Given the description of an element on the screen output the (x, y) to click on. 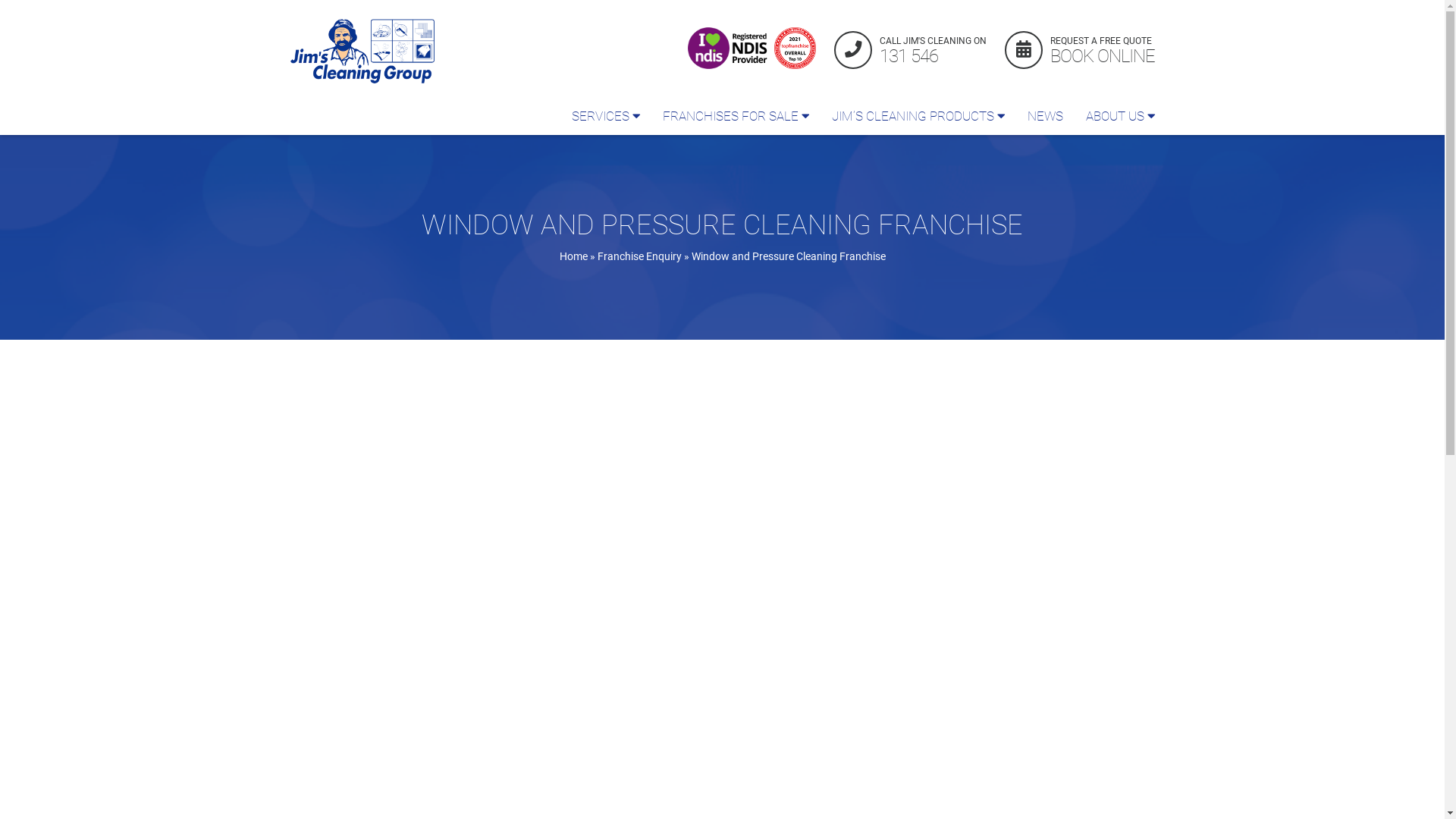
NEWS Element type: text (1045, 115)
ABOUT US Element type: text (1119, 115)
Home Element type: text (573, 256)
Registered NDIS Provider Element type: hover (728, 48)
jims-cleaning-group-logo Element type: hover (361, 50)
Franchise Enquiry Element type: text (639, 256)
SERVICES Element type: text (604, 115)
Top Franchise 2020 Overall Ranked #1 Element type: hover (794, 48)
FRANCHISES FOR SALE Element type: text (734, 115)
